Given the description of an element on the screen output the (x, y) to click on. 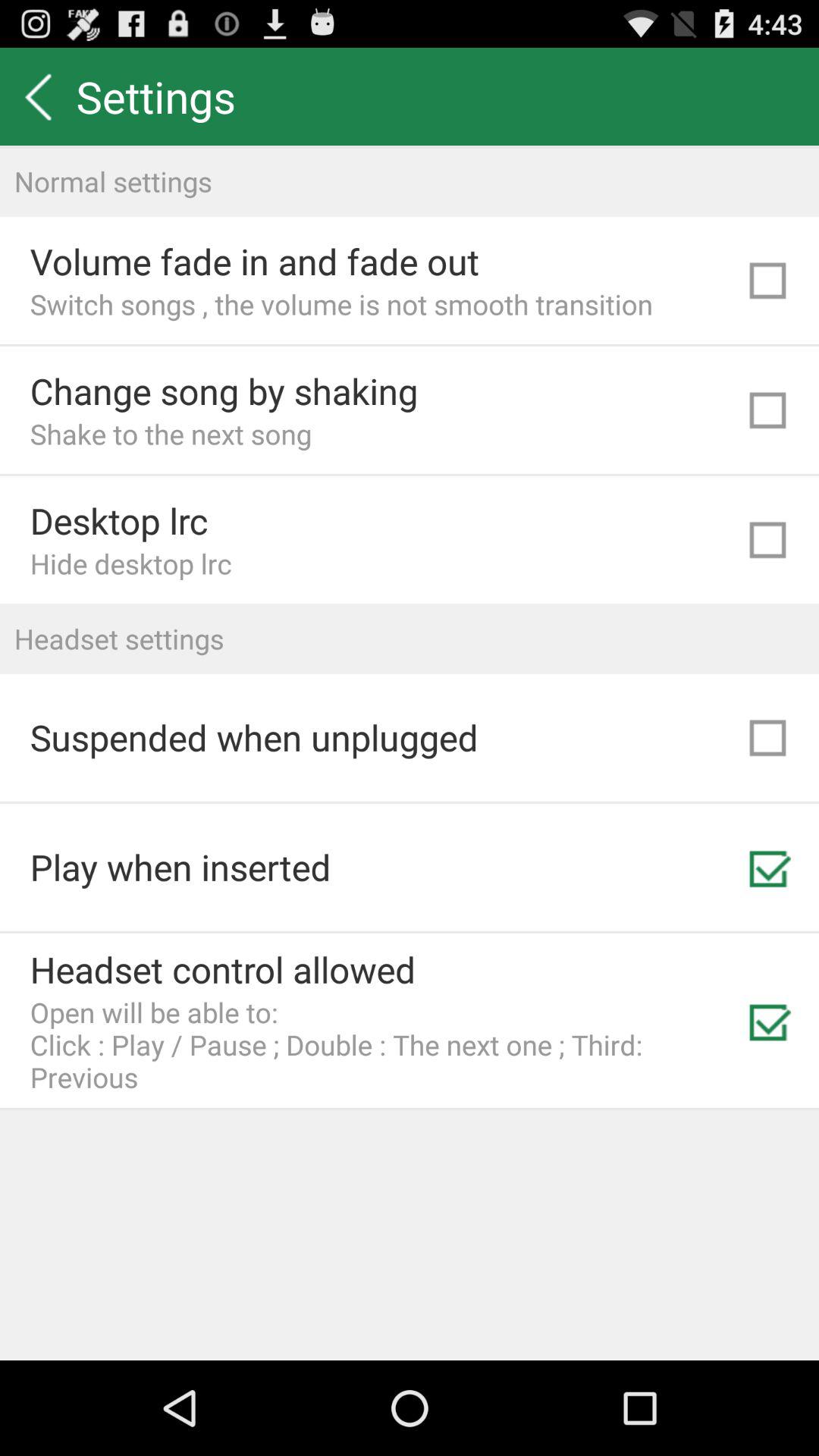
open change song by (224, 390)
